Given the description of an element on the screen output the (x, y) to click on. 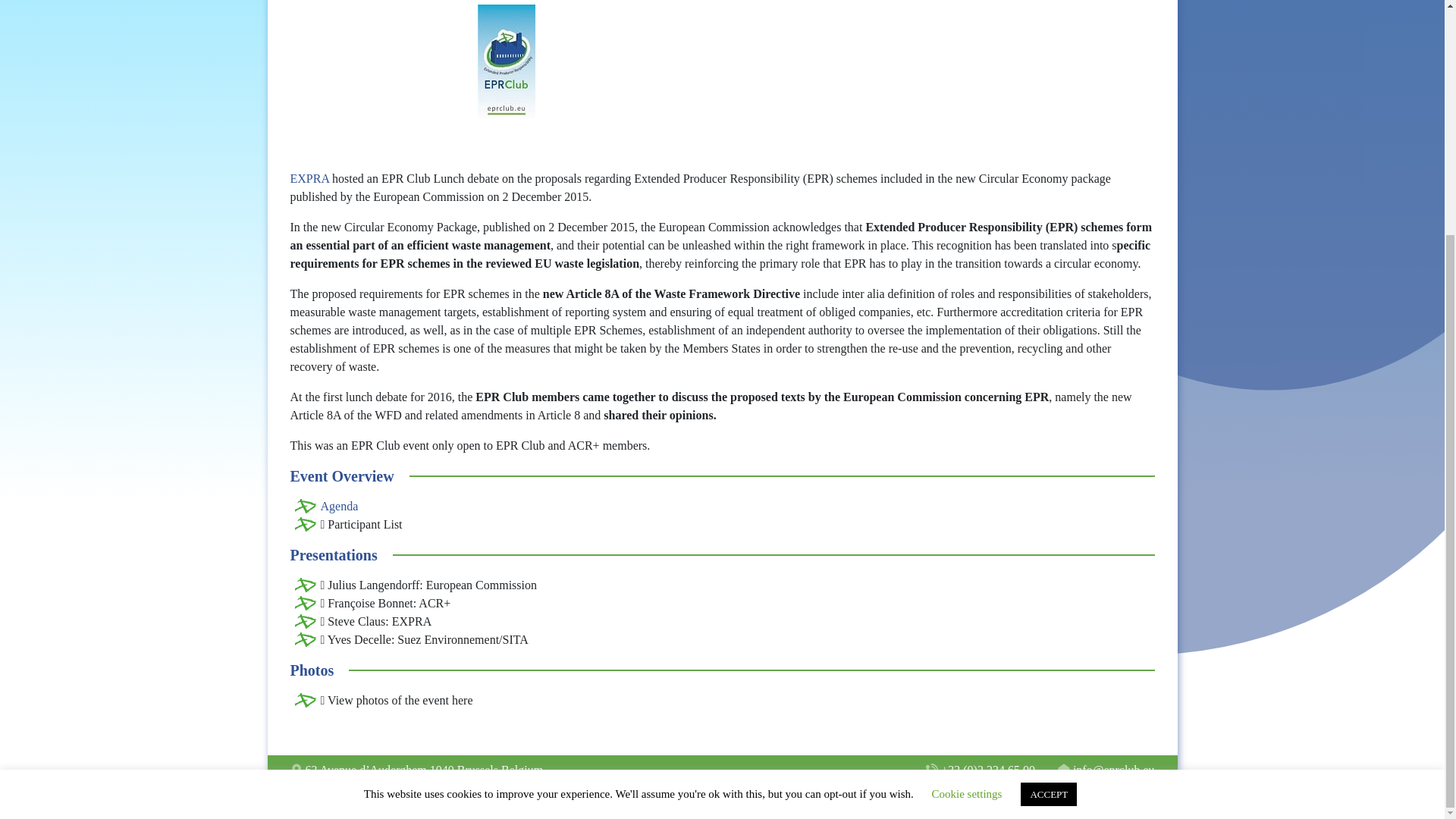
ACCEPT (1048, 474)
EXPRA (310, 178)
Cookie settings (967, 474)
Agenda (339, 505)
cwndesign (1133, 802)
Sitemap (714, 802)
